Given the description of an element on the screen output the (x, y) to click on. 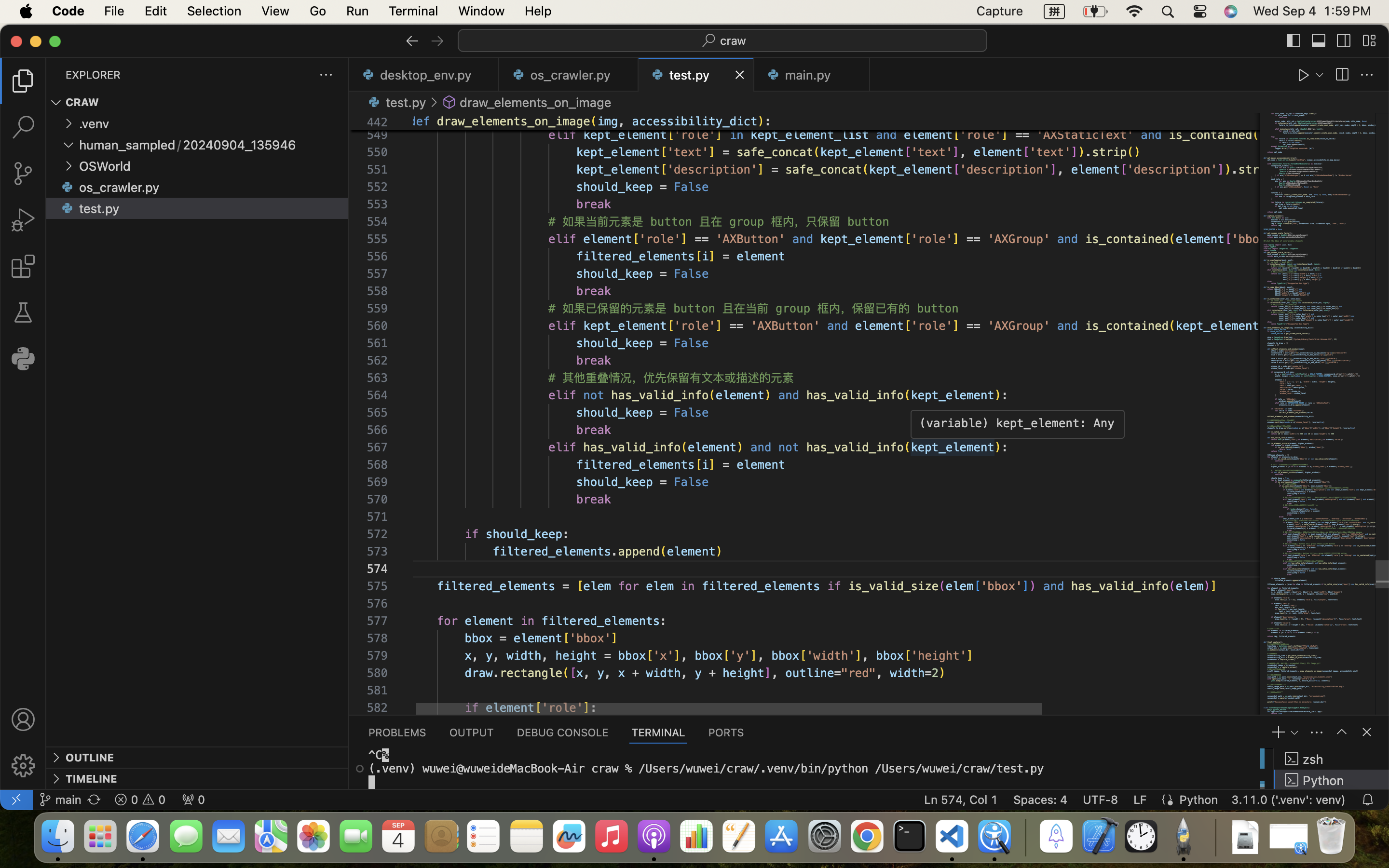
 Element type: AXStaticText (67, 207)
 Element type: AXCheckBox (1341, 731)
 Element type: AXButton (1303, 74)
os_crawler.py Element type: AXStaticText (119, 187)
 Element type: AXCheckBox (1344, 40)
